Given the description of an element on the screen output the (x, y) to click on. 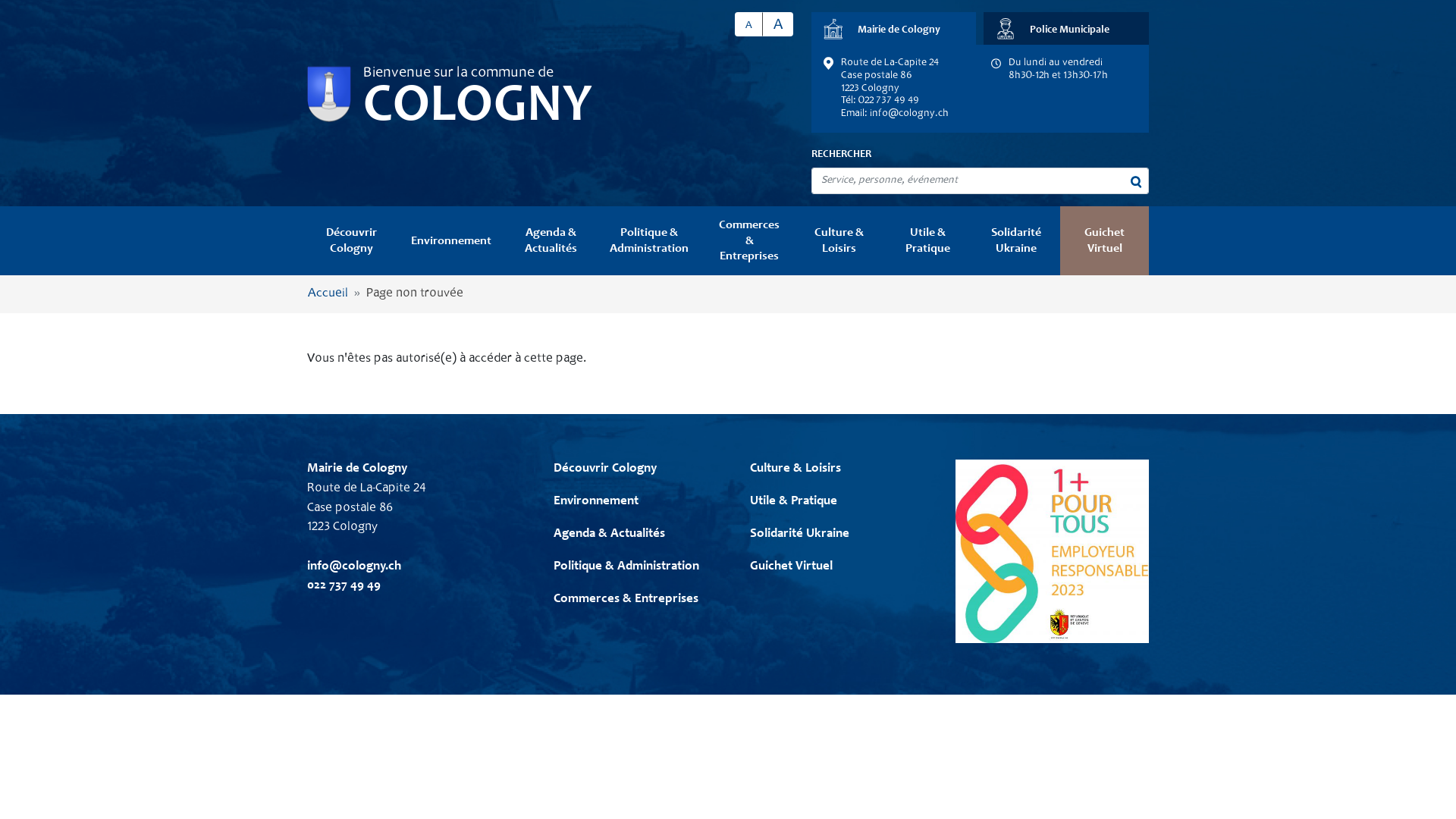
Rechercher Element type: text (1136, 181)
info@cologny.ch Element type: text (354, 566)
Police Municipale Element type: text (1065, 28)
Bienvenue sur la commune de Element type: text (458, 73)
info@cologny.ch Element type: text (908, 113)
A Element type: text (748, 24)
Aller au contenu principal Element type: text (0, 0)
Utile & Pratique Element type: text (927, 240)
Accueil Element type: text (327, 293)
Utile & Pratique Element type: text (792, 501)
Commerces & Entreprises Element type: text (748, 240)
Vers l'accueil Element type: hover (329, 93)
A Element type: text (777, 24)
Politique & Administration Element type: text (648, 240)
Commerces & Entreprises Element type: text (625, 599)
Culture & Loisirs Element type: text (838, 240)
Environnement Element type: text (450, 240)
Guichet Virtuel Element type: text (790, 566)
022 737 49 49 Element type: text (343, 585)
Politique & Administration Element type: text (626, 566)
COLOGNY Element type: text (477, 107)
logo 1+ pour tous - employeur responsable 2023 Element type: hover (1051, 550)
Culture & Loisirs Element type: text (794, 468)
Environnement Element type: text (595, 501)
Mairie de Cologny Element type: text (893, 28)
Guichet Virtuel Element type: text (1104, 240)
